Given the description of an element on the screen output the (x, y) to click on. 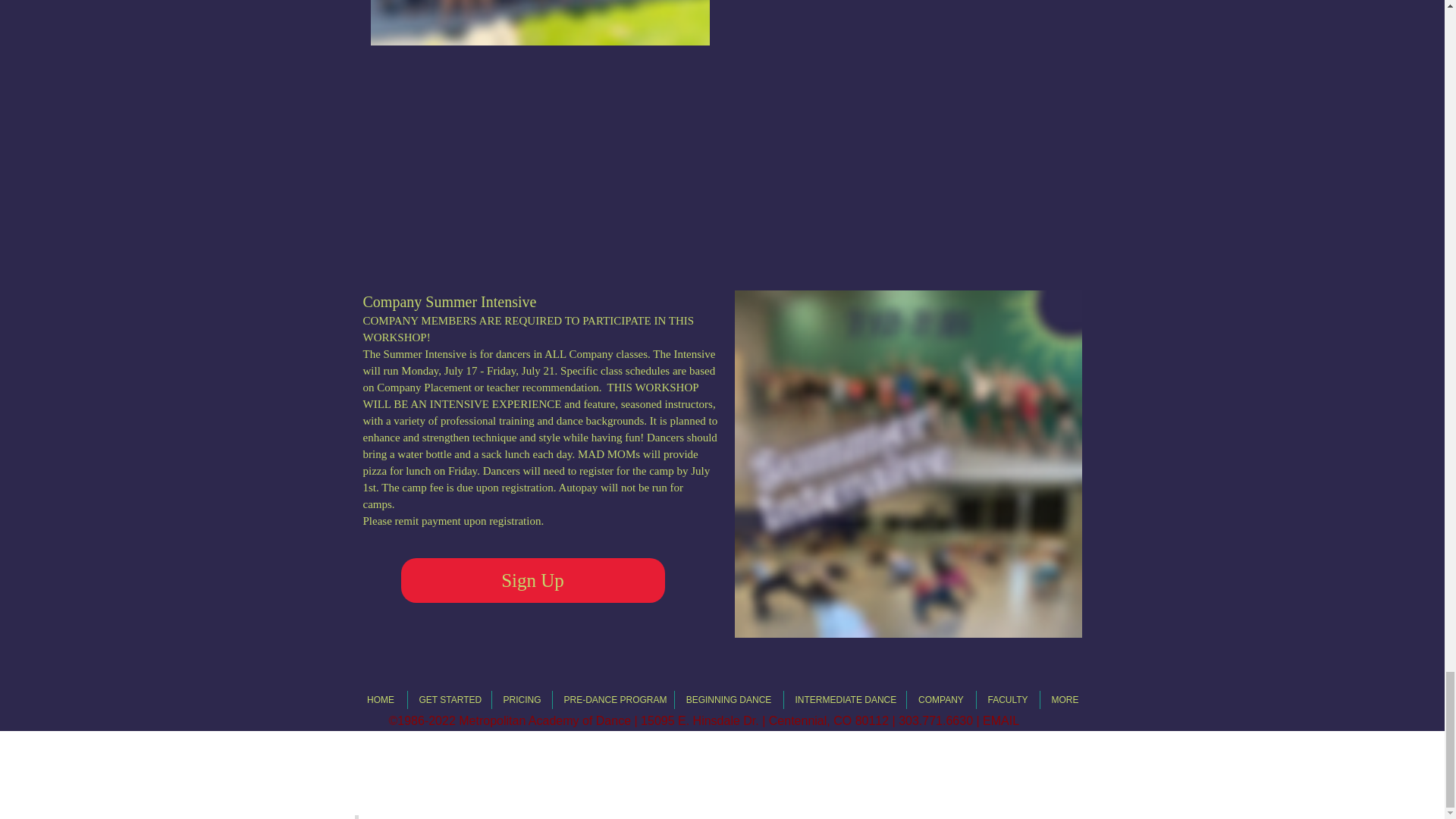
PRICING (521, 700)
INTERMEDIATE DANCE (844, 700)
BEGINNING DANCE (729, 700)
HOME (381, 700)
FACULTY (1007, 700)
GET STARTED (449, 700)
COMPANY (941, 700)
Sign Up (531, 579)
PRE-DANCE PROGRAM (611, 700)
